Given the description of an element on the screen output the (x, y) to click on. 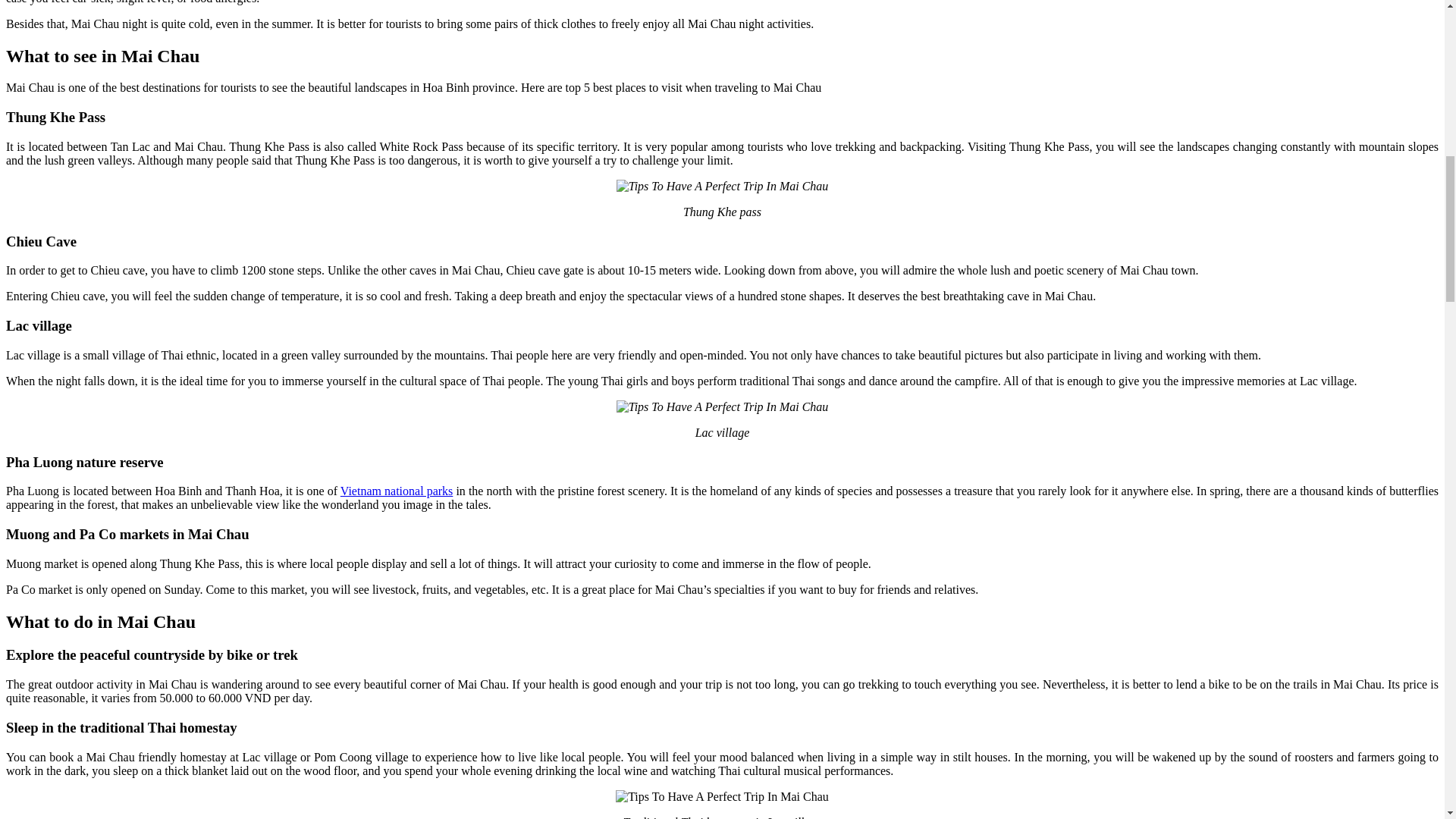
Vietnam national parks (396, 490)
